Given the description of an element on the screen output the (x, y) to click on. 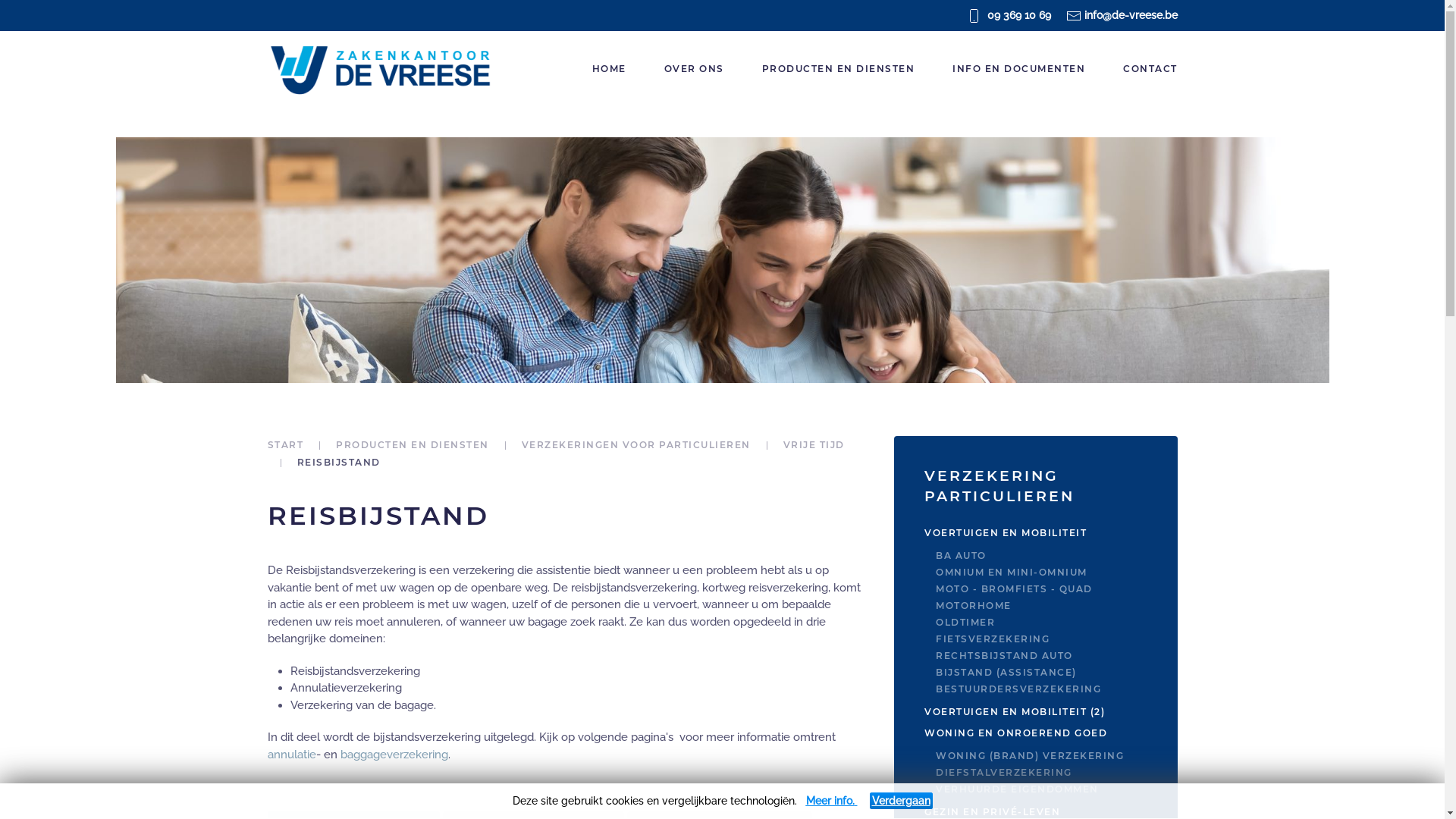
VERZEKERINGEN VOOR PARTICULIEREN Element type: text (635, 444)
baggageverzekering Element type: text (393, 754)
VRIJE TIJD Element type: text (813, 444)
START Element type: text (284, 444)
WONING (BRAND) VERZEKERING Element type: text (1055, 755)
OVER ONS Element type: text (693, 68)
INFO EN DOCUMENTEN Element type: text (1018, 68)
BESTUURDERSVERZEKERING Element type: text (1055, 688)
CONTACT Element type: text (1150, 68)
09 369 10 69 Element type: text (1019, 15)
annulatie Element type: text (290, 754)
WONING EN ONROEREND GOED Element type: text (1035, 732)
HOME Element type: text (609, 68)
PRODUCTEN EN DIENSTEN Element type: text (412, 444)
VOERTUIGEN EN MOBILITEIT Element type: text (1035, 532)
RECHTSBIJSTAND AUTO Element type: text (1055, 655)
VOERTUIGEN EN MOBILITEIT (2) Element type: text (1035, 711)
DIEFSTALVERZEKERING Element type: text (1055, 772)
OLDTIMER Element type: text (1055, 622)
VERHUURDE EIGENDOMMEN Element type: text (1055, 789)
BIJSTAND (ASSISTANCE) Element type: text (1055, 672)
info@de-vreese.be Element type: text (1130, 15)
OMNIUM EN MINI-OMNIUM Element type: text (1055, 572)
MOTO - BROMFIETS - QUAD Element type: text (1055, 588)
FIETSVERZEKERING Element type: text (1055, 638)
BA AUTO Element type: text (1055, 555)
MOTORHOME Element type: text (1055, 605)
PRODUCTEN EN DIENSTEN Element type: text (838, 68)
